Given the description of an element on the screen output the (x, y) to click on. 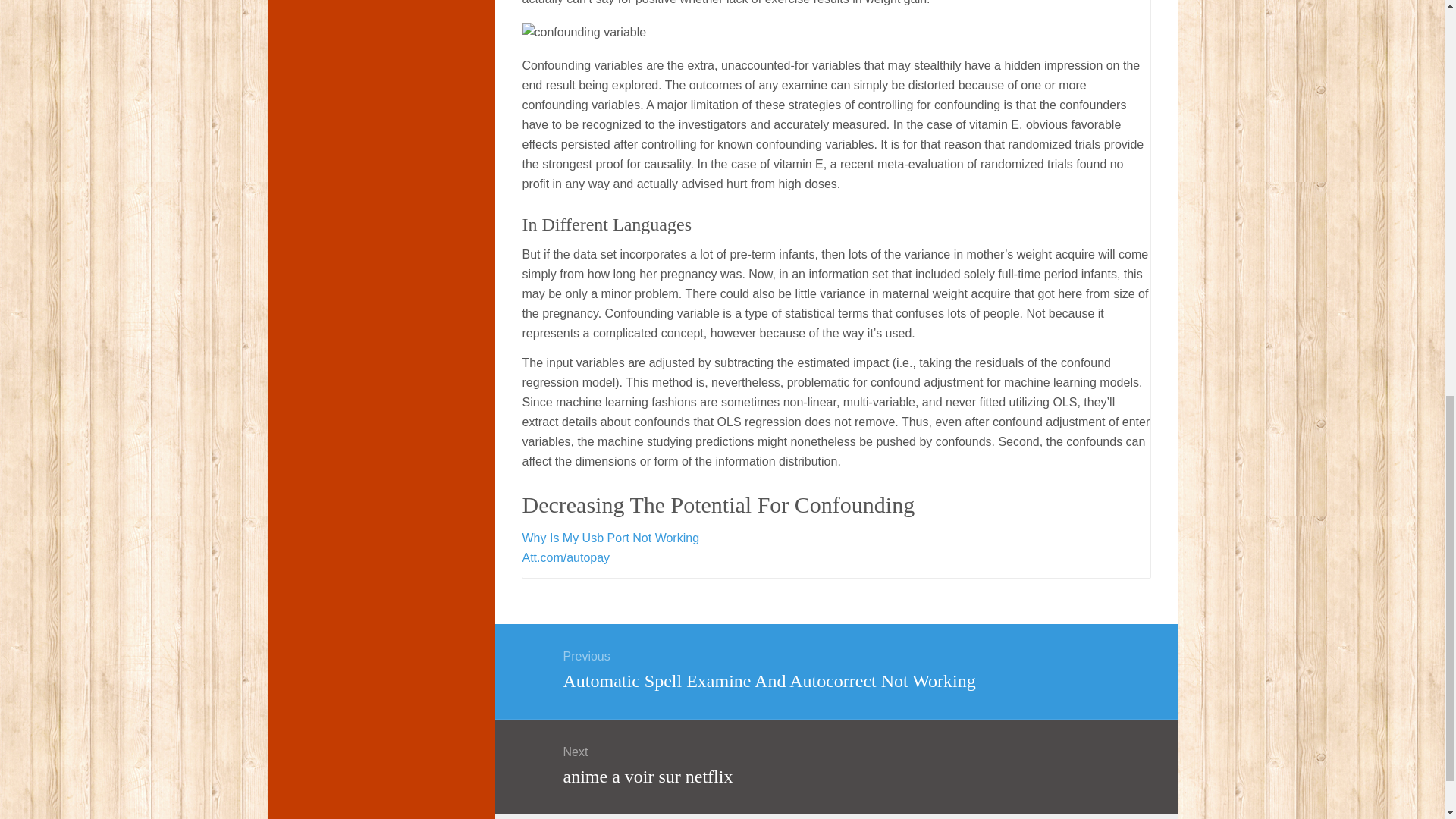
Why Is My Usb Port Not Working (609, 537)
